Given the description of an element on the screen output the (x, y) to click on. 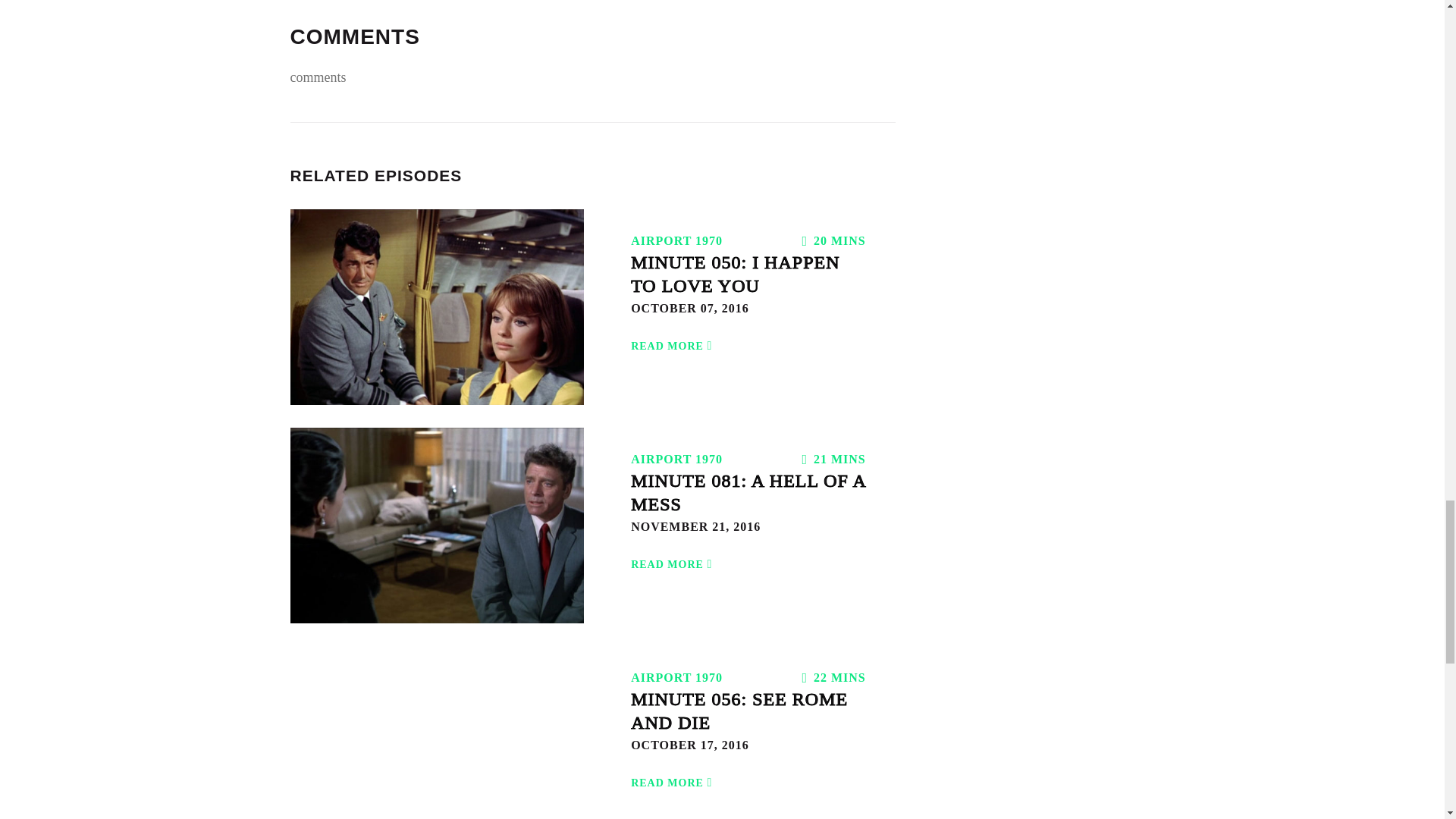
READ MORE (673, 773)
READ MORE (673, 336)
READ MORE (673, 555)
